Given the description of an element on the screen output the (x, y) to click on. 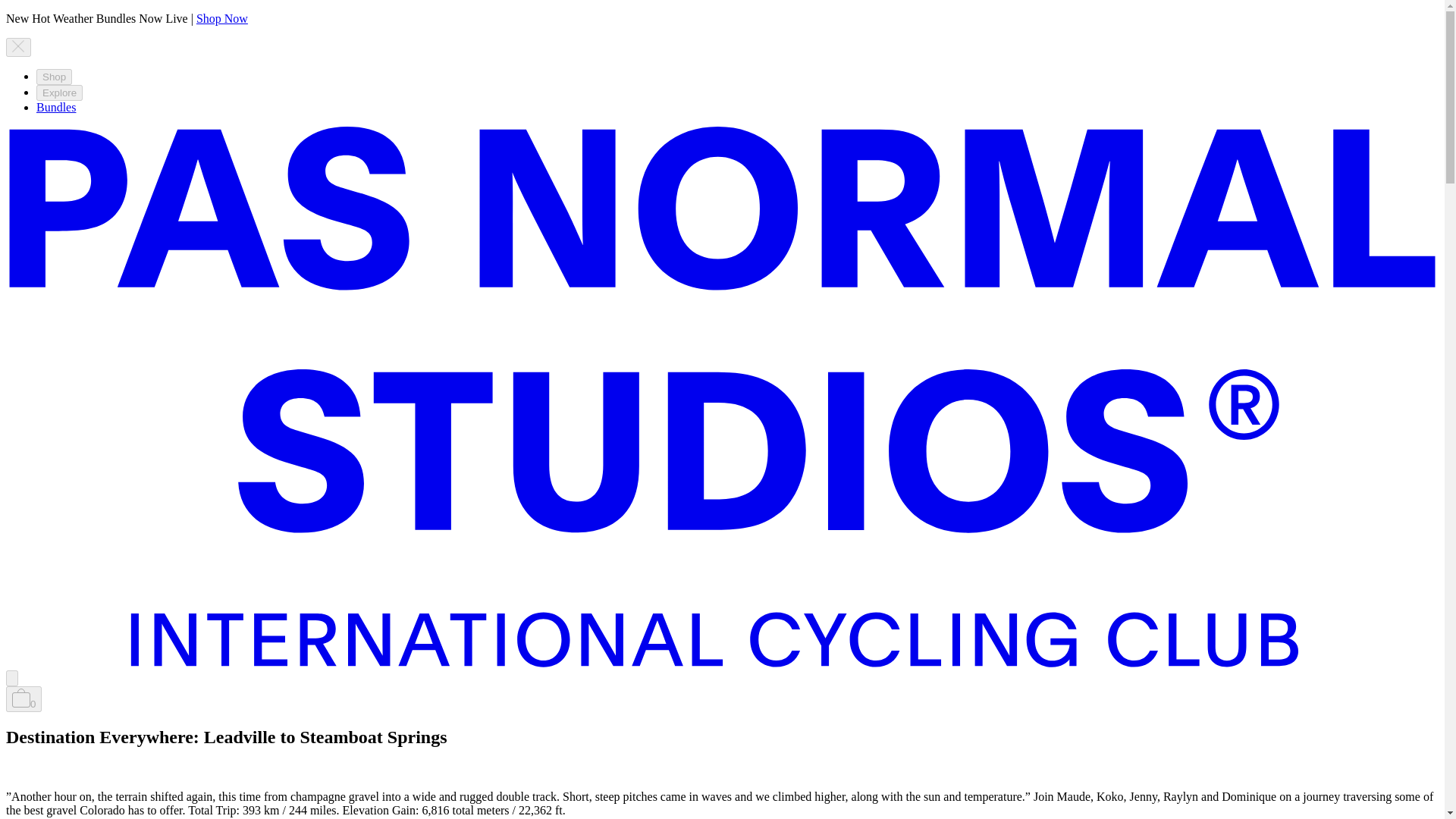
Explore (59, 92)
Shop (53, 76)
0 (23, 698)
Shop Now (221, 18)
